Given the description of an element on the screen output the (x, y) to click on. 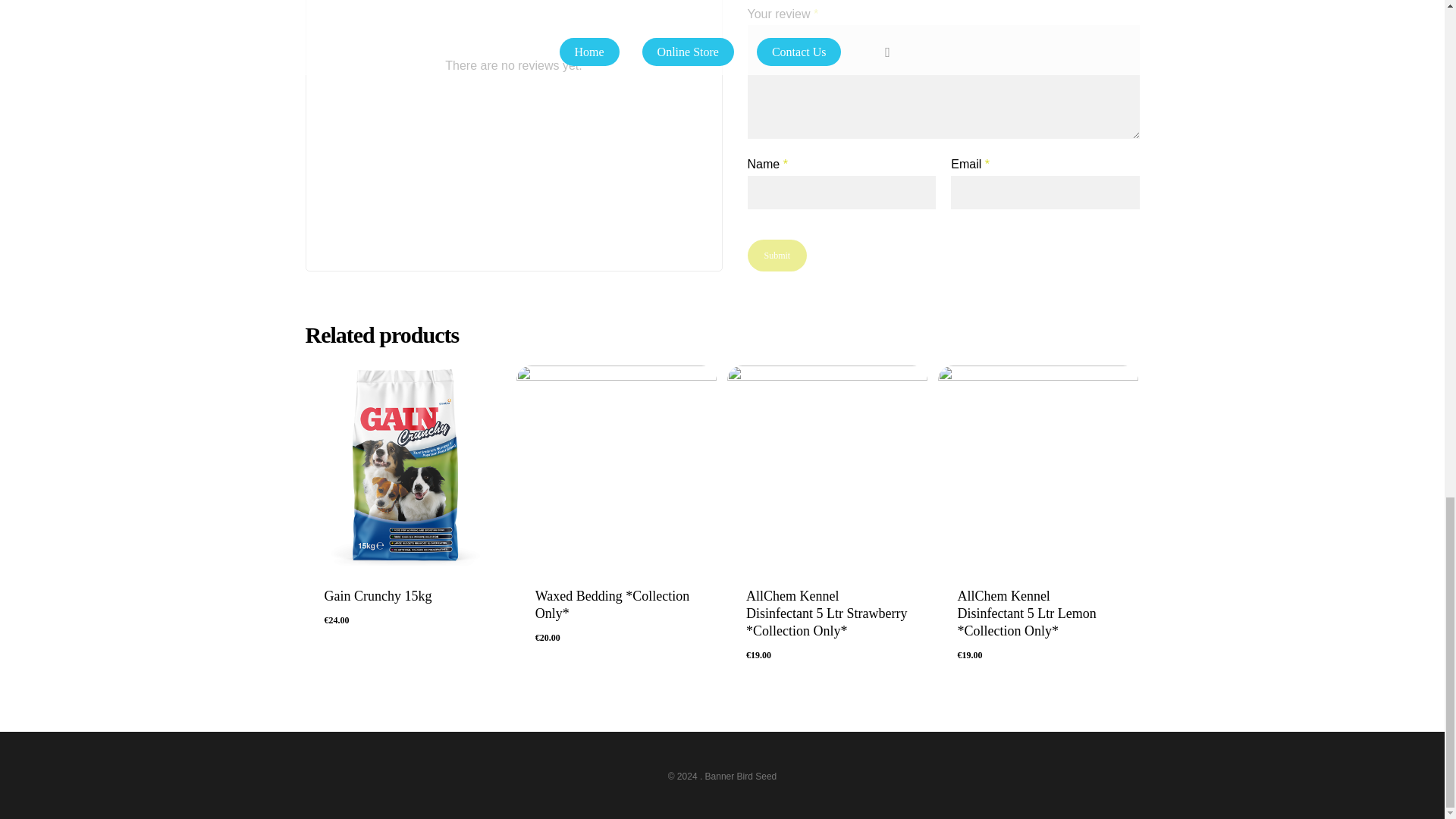
Submit (778, 255)
Submit (778, 255)
Gain Crunchy 15kg (405, 595)
